Given the description of an element on the screen output the (x, y) to click on. 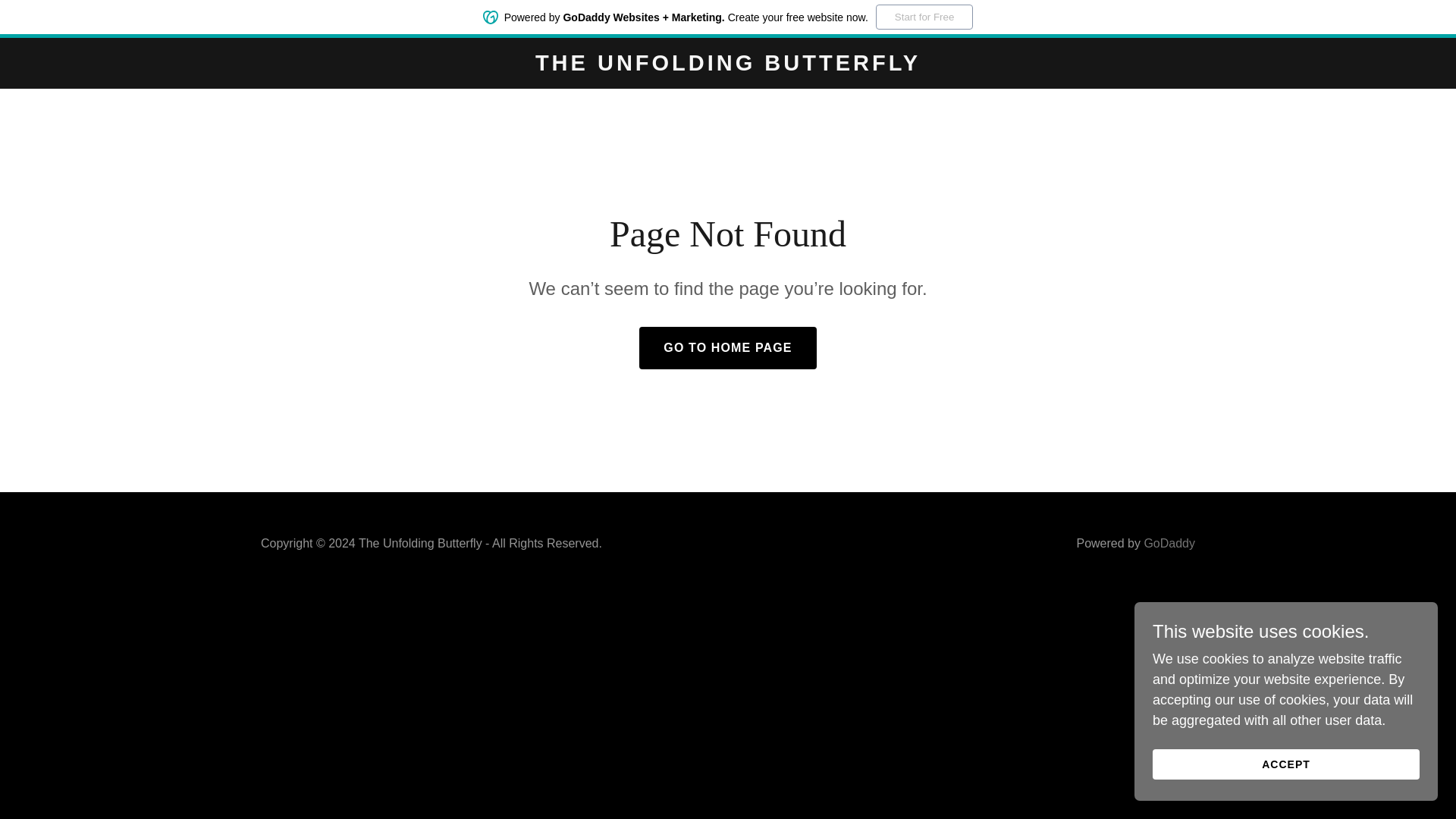
The Unfolding Butterfly (727, 65)
GoDaddy (1168, 543)
THE UNFOLDING BUTTERFLY (727, 65)
GO TO HOME PAGE (727, 347)
ACCEPT (1286, 764)
